Given the description of an element on the screen output the (x, y) to click on. 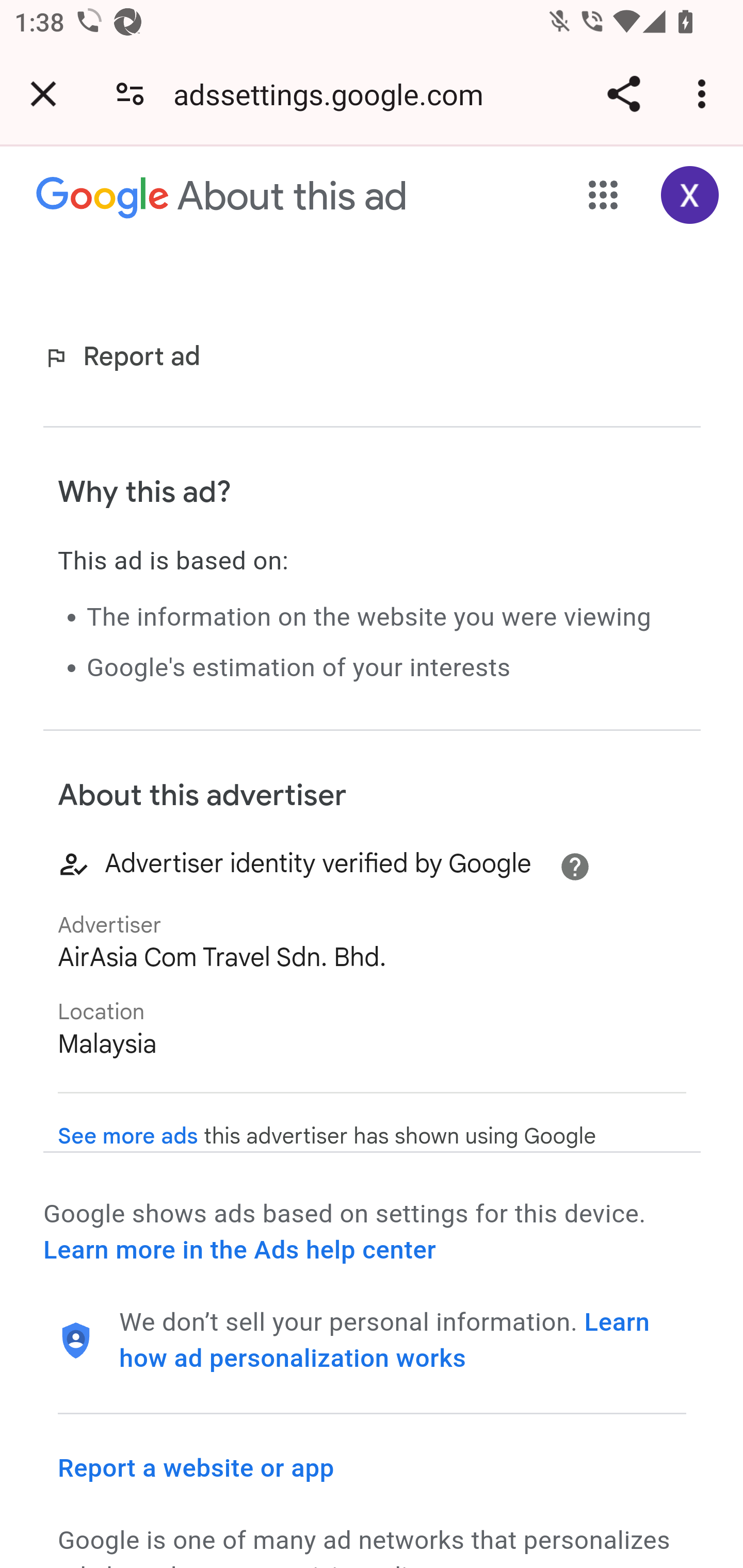
Close tab (43, 93)
Share (623, 93)
Customize and control Google Chrome (705, 93)
Connection is secure (129, 93)
adssettings.google.com (335, 93)
Google apps (603, 195)
Google Account: Xiaoran (zxrappiumtest@gmail.com) (690, 195)
Report ad (opens in new tab) Report ad (126, 357)
See more ads (opens in new tab) See more ads (127, 1136)
Learn more in the Ads help center (239, 1250)
Learn how ad personalization works (384, 1340)
Report a website or app (196, 1467)
